Given the description of an element on the screen output the (x, y) to click on. 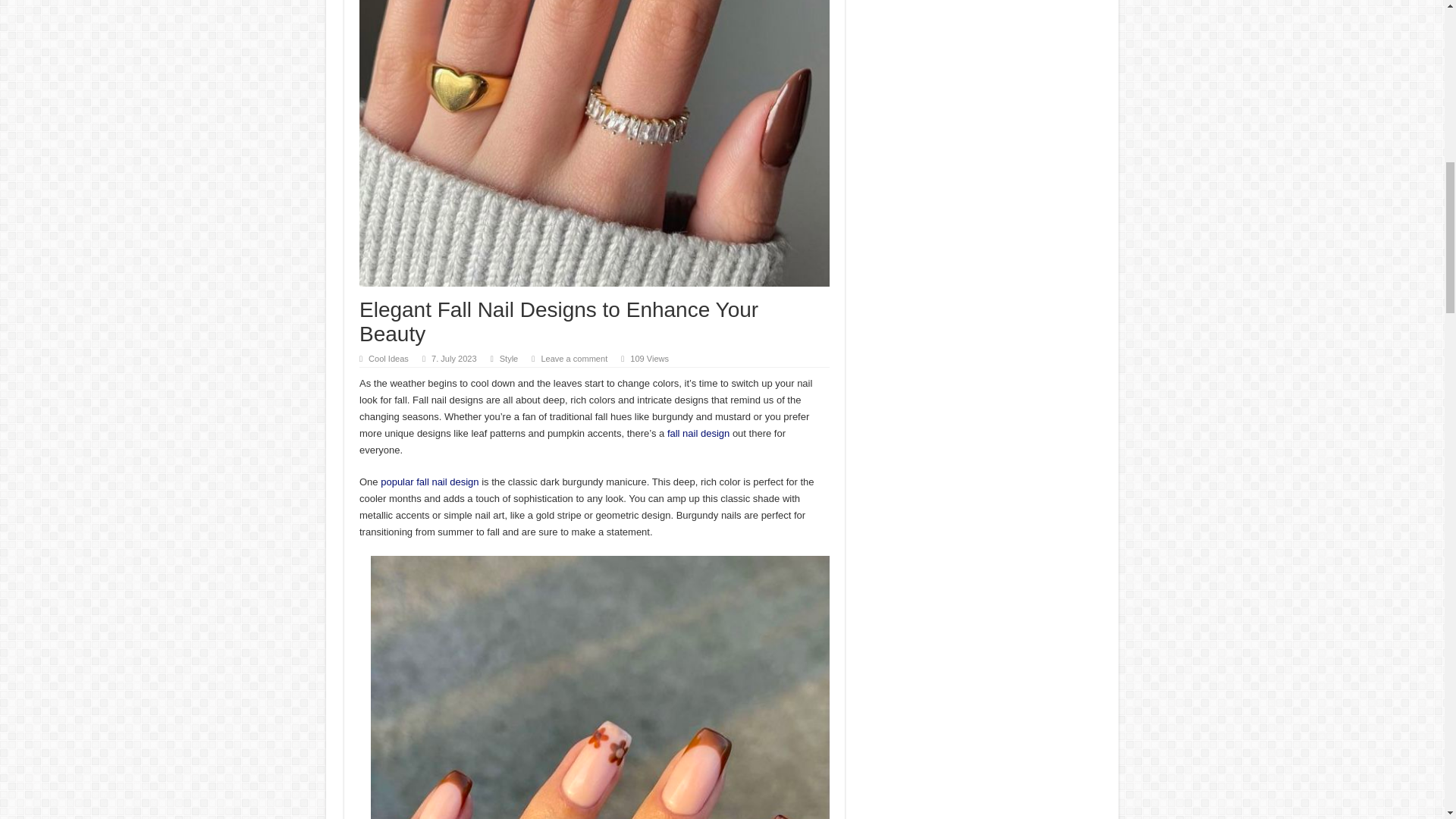
Style (508, 357)
Floral Print Trends in Women's Fashion (697, 432)
popular fall nail design (429, 481)
Stunning Fall Nail Designs to Enhance Your Beauty (429, 481)
Cool Ideas (388, 357)
Leave a comment (573, 357)
fall nail design (697, 432)
Trendy Fall Nail Designs to Elevate Your Beauty (600, 687)
